Given the description of an element on the screen output the (x, y) to click on. 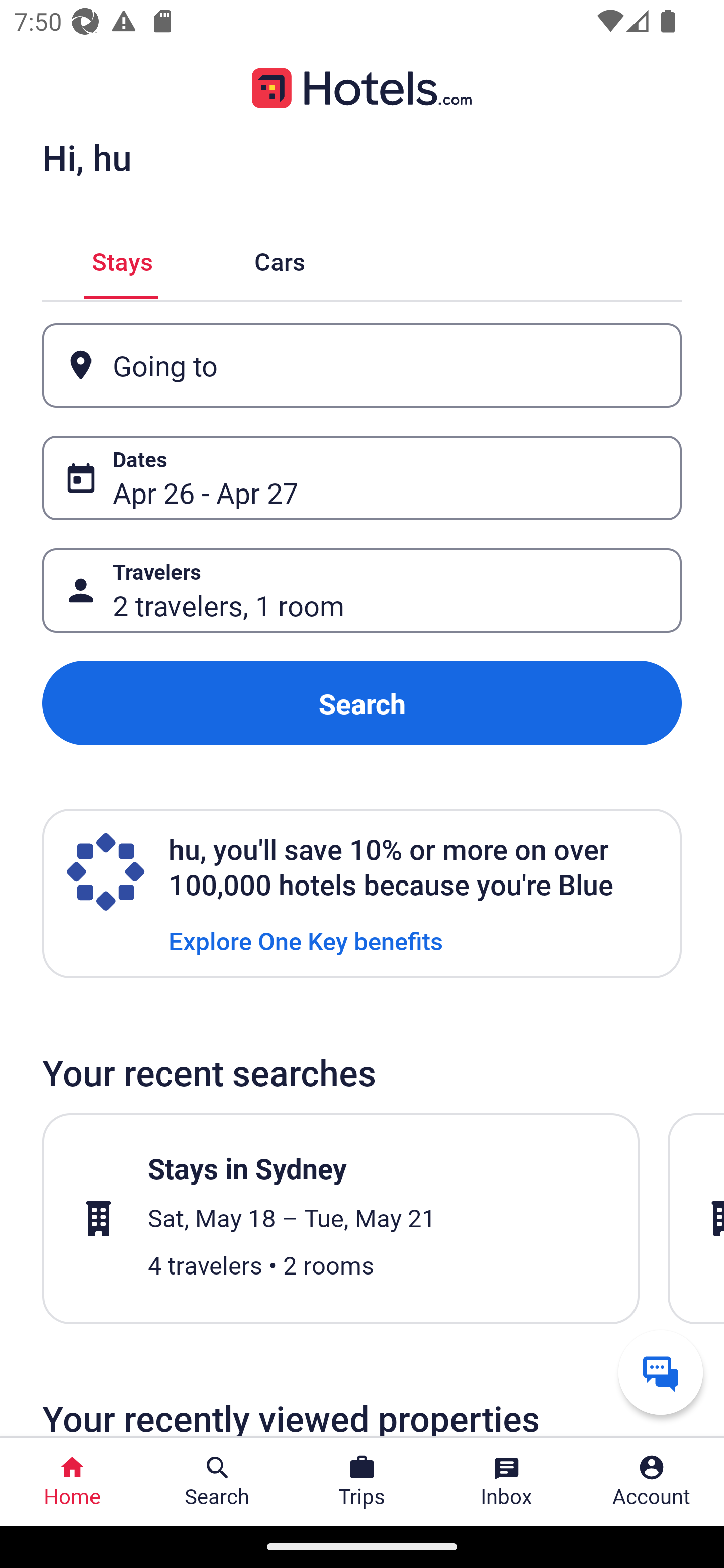
Hi, hu (86, 156)
Cars (279, 259)
Going to Button (361, 365)
Dates Button Apr 26 - Apr 27 (361, 477)
Travelers Button 2 travelers, 1 room (361, 590)
Search (361, 702)
Get help from a virtual agent (660, 1371)
Search Search Button (216, 1481)
Trips Trips Button (361, 1481)
Inbox Inbox Button (506, 1481)
Account Profile. Button (651, 1481)
